Given the description of an element on the screen output the (x, y) to click on. 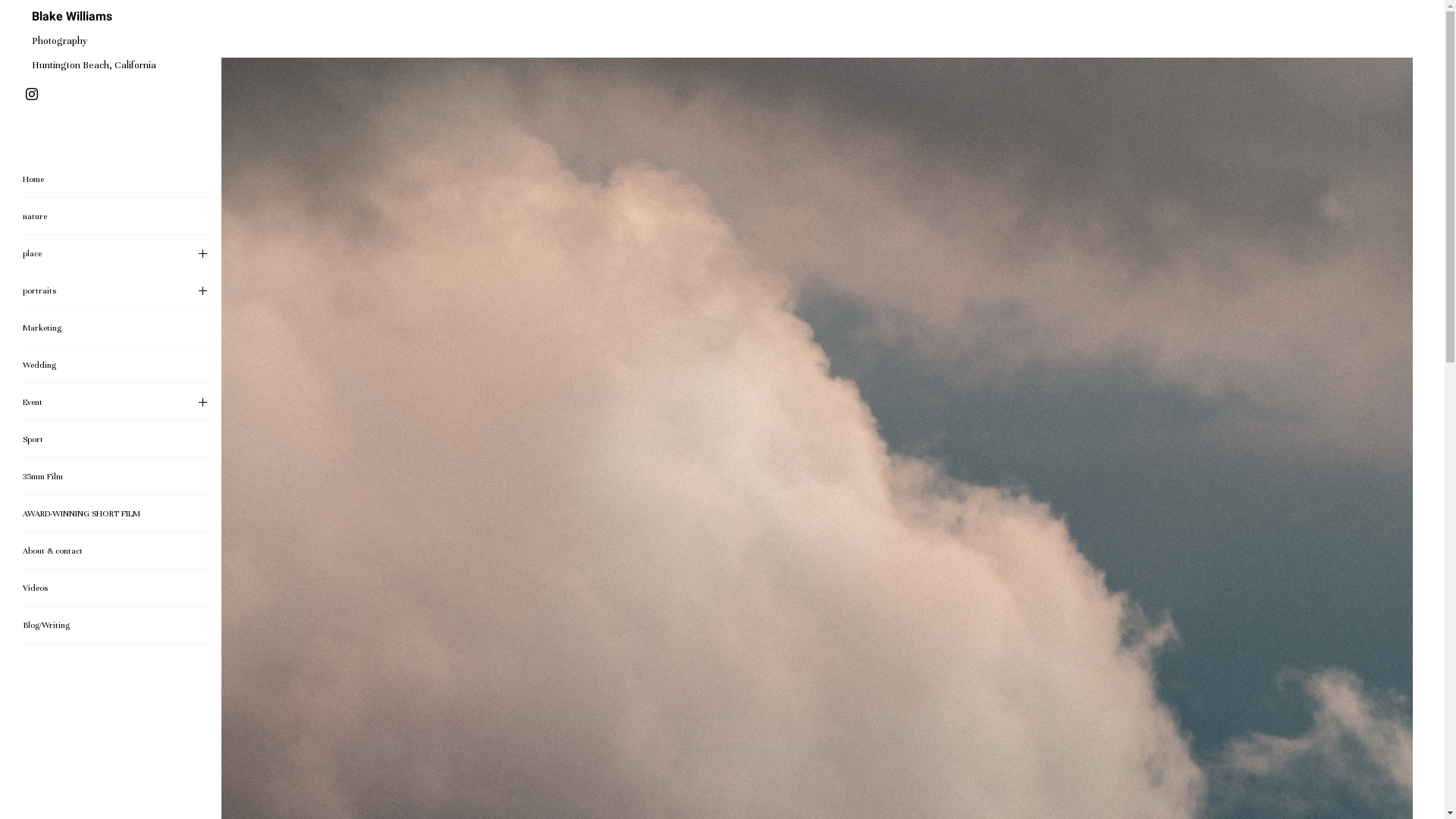
AWARD-WINNING SHORT FILM Element type: text (117, 513)
Event Element type: text (117, 401)
place Element type: text (117, 253)
portraits Element type: text (117, 290)
Blog/Writing Element type: text (117, 624)
Sport Element type: text (117, 439)
Videos Element type: text (117, 587)
35mm Film Element type: text (117, 476)
Home Element type: text (117, 178)
Wedding Element type: text (117, 364)
Marketing Element type: text (117, 327)
nature Element type: text (117, 216)
About & contact Element type: text (117, 550)
